Given the description of an element on the screen output the (x, y) to click on. 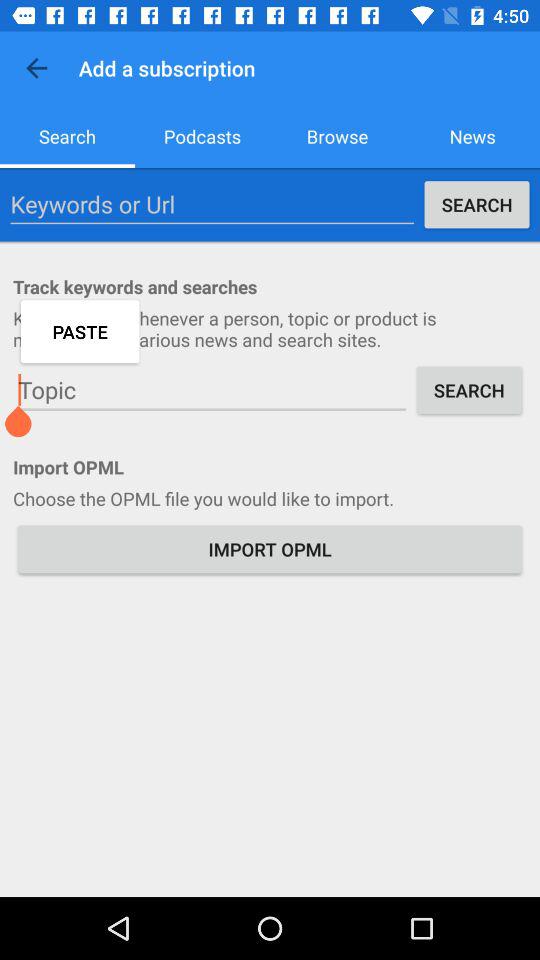
click podcasts item (202, 136)
